Given the description of an element on the screen output the (x, y) to click on. 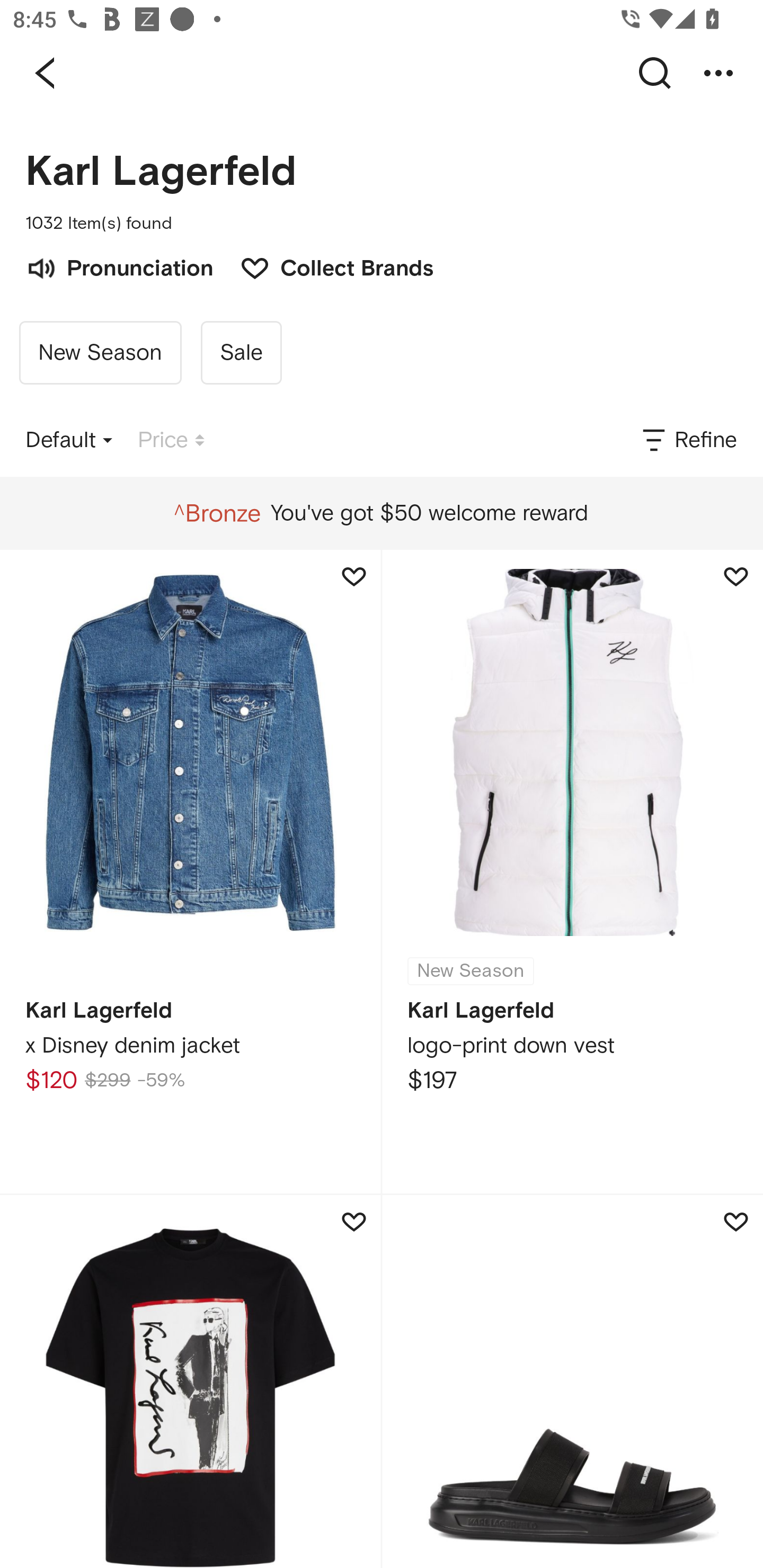
Pronunciation (119, 266)
Collect Brands (327, 266)
New Season (100, 352)
Sale (240, 352)
Default (68, 440)
Price (171, 440)
Refine (688, 440)
You've got $50 welcome reward (381, 513)
